Given the description of an element on the screen output the (x, y) to click on. 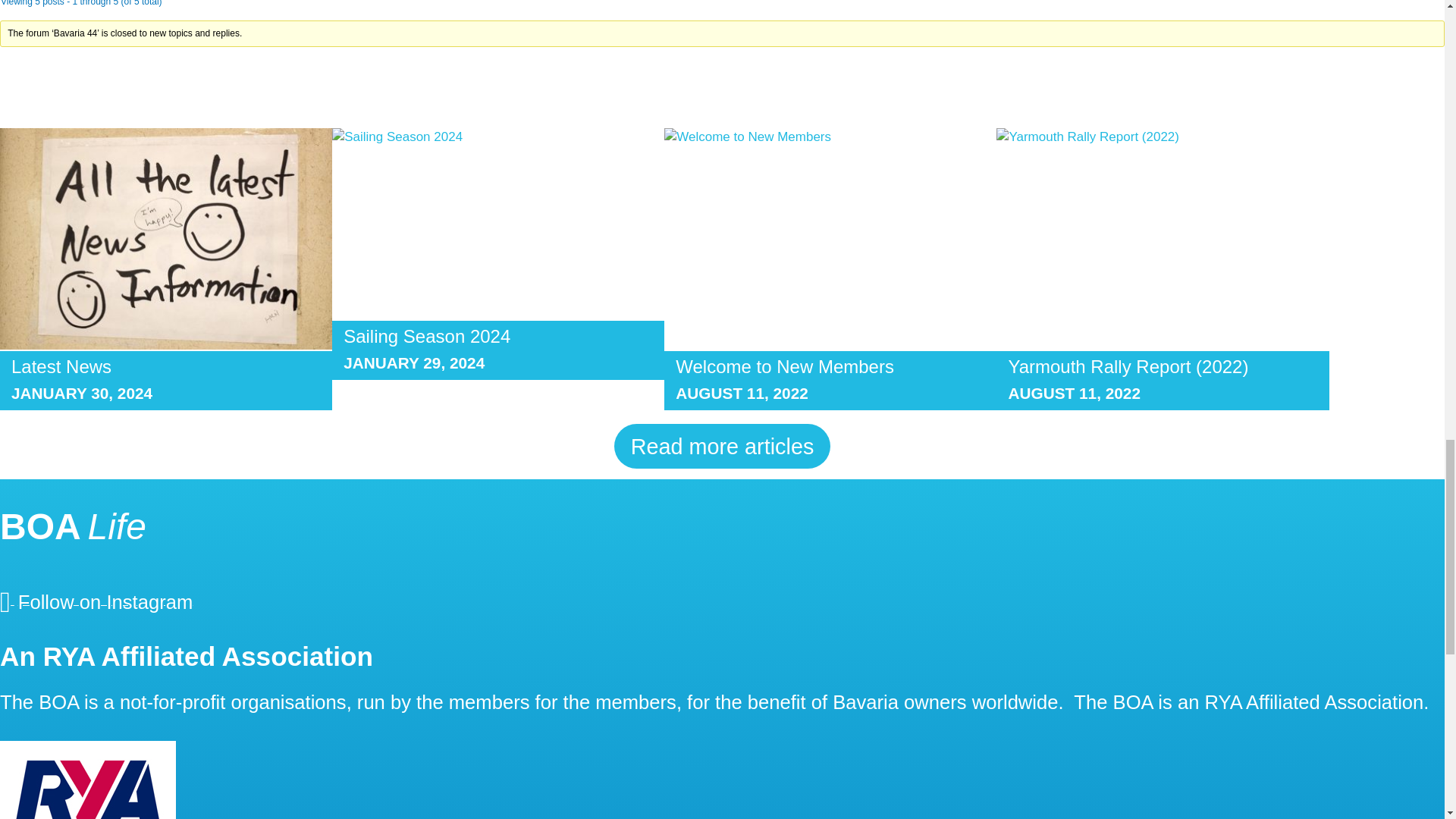
Sailing Season 2024 (427, 335)
Read more articles (722, 446)
Follow on Instagram (96, 599)
Latest News (61, 366)
Welcome to New Members (784, 366)
